Given the description of an element on the screen output the (x, y) to click on. 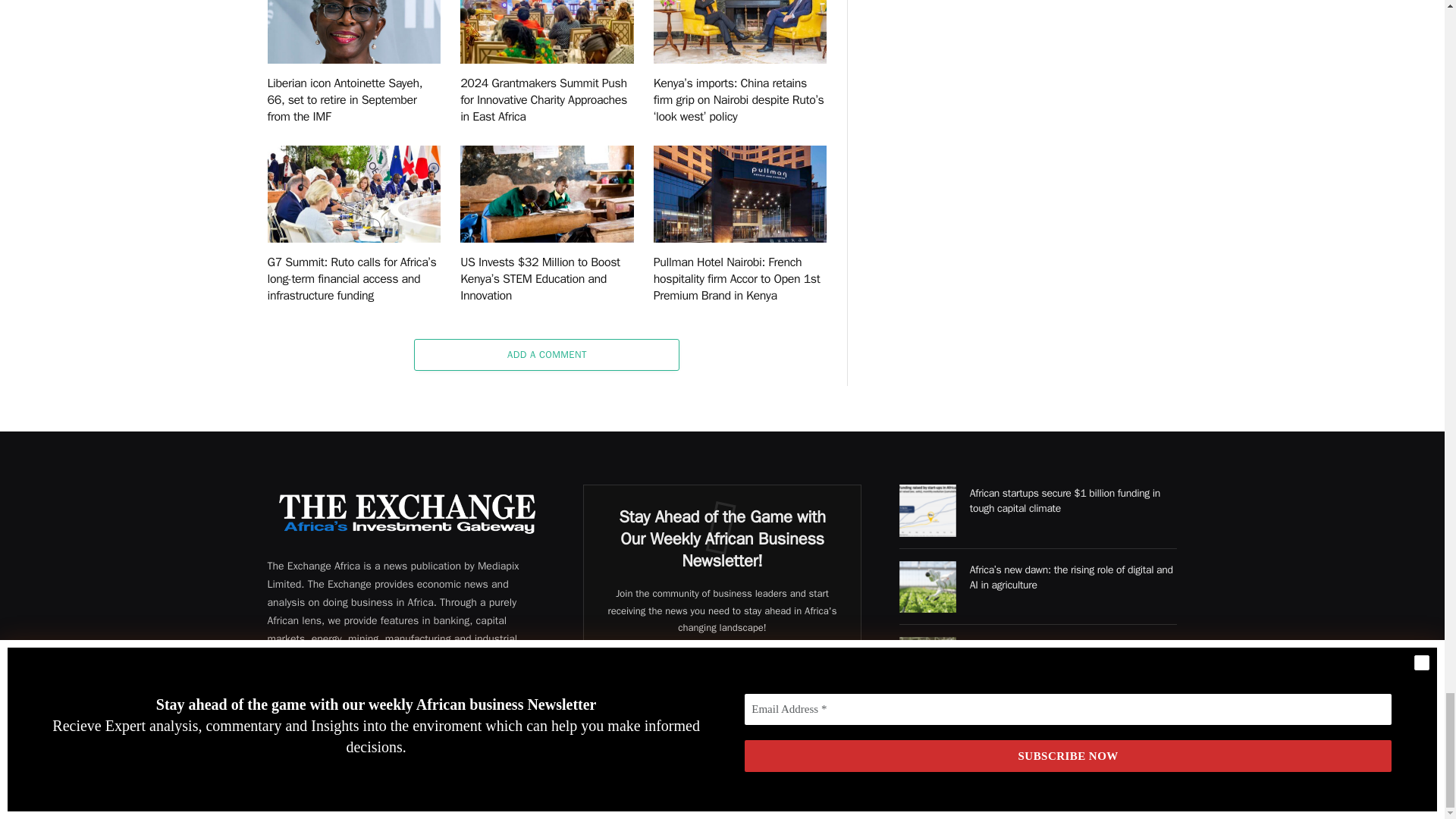
on (624, 748)
Subscribe (721, 711)
